Given the description of an element on the screen output the (x, y) to click on. 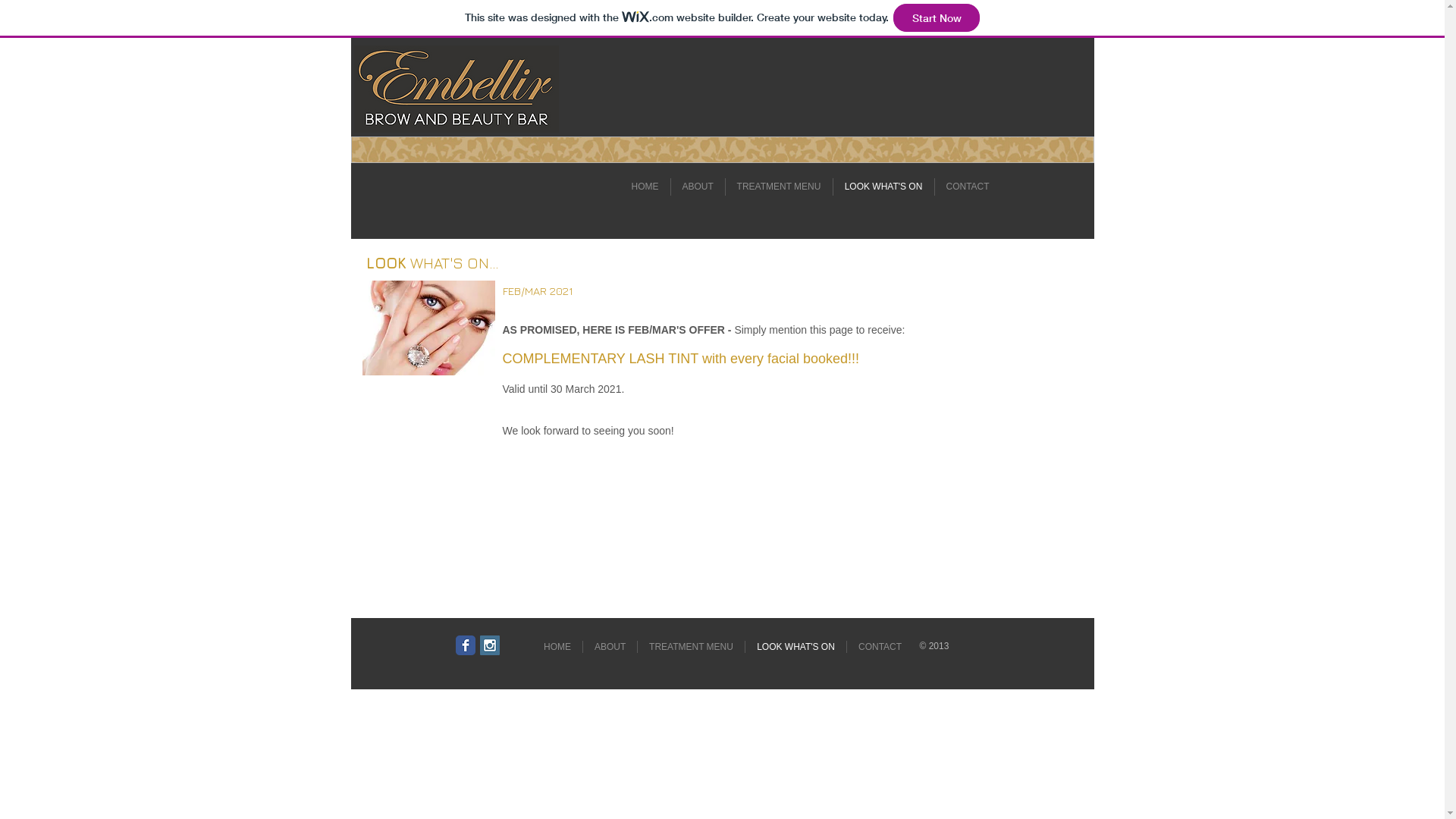
LOOK WHAT'S ON Element type: text (795, 646)
TREATMENT MENU Element type: text (690, 646)
HOME Element type: text (557, 646)
ABOUT Element type: text (697, 186)
Bangalow Beautician, Embellir Beauty and  Element type: hover (428, 327)
HOME Element type: text (645, 186)
TREATMENT MENU Element type: text (777, 186)
CONTACT Element type: text (880, 646)
CONTACT Element type: text (967, 186)
LOOK WHAT'S ON Element type: text (882, 186)
ABOUT Element type: text (610, 646)
